Given the description of an element on the screen output the (x, y) to click on. 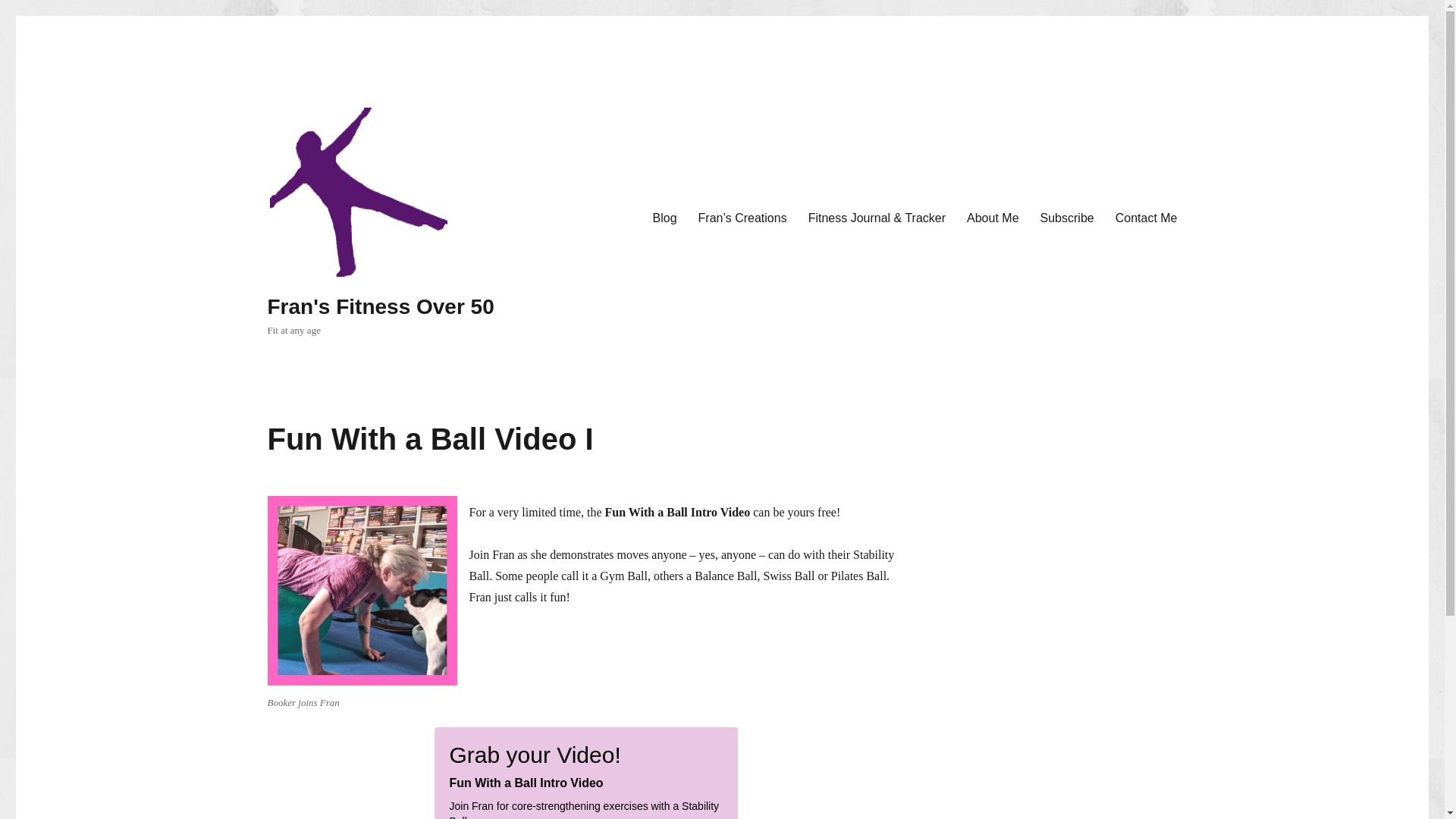
Blog (664, 218)
Subscribe (1067, 218)
About Me (992, 218)
Fran's Fitness Over 50 (379, 306)
Contact Me (1146, 218)
